Given the description of an element on the screen output the (x, y) to click on. 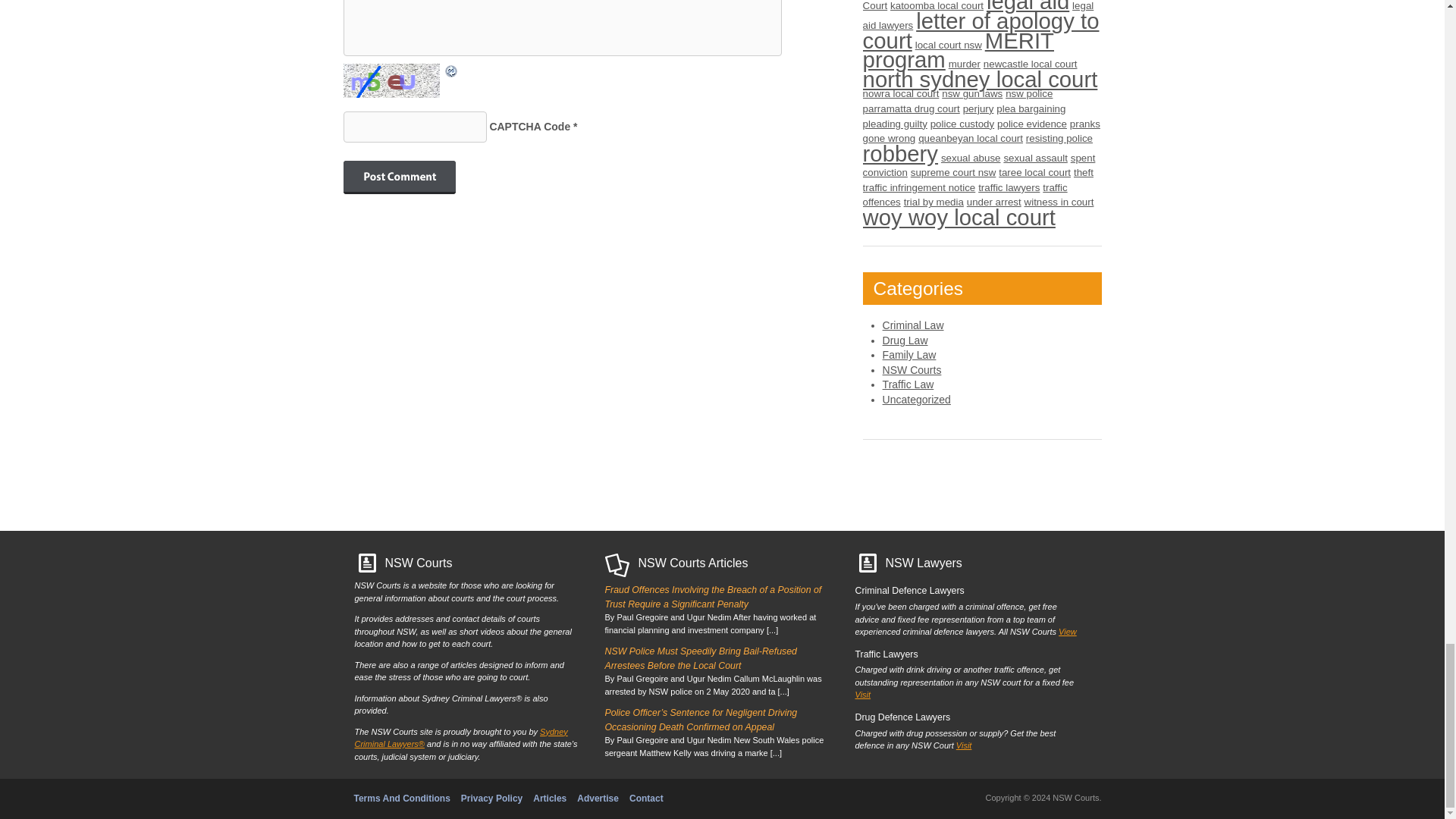
Submit (398, 177)
CAPTCHA (392, 80)
Refresh (451, 70)
